Given the description of an element on the screen output the (x, y) to click on. 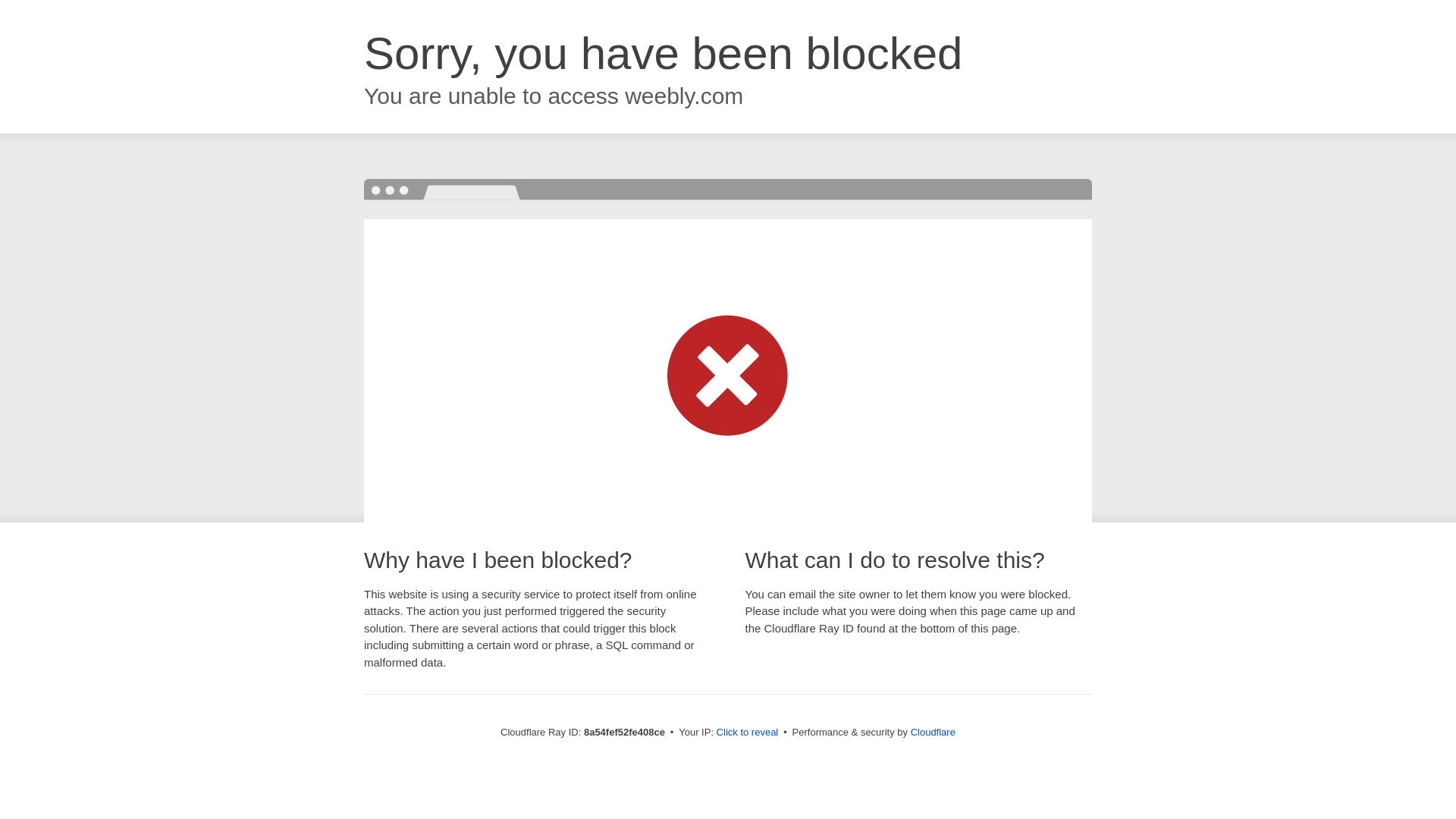
Click to reveal (747, 732)
Cloudflare (933, 731)
